Given the description of an element on the screen output the (x, y) to click on. 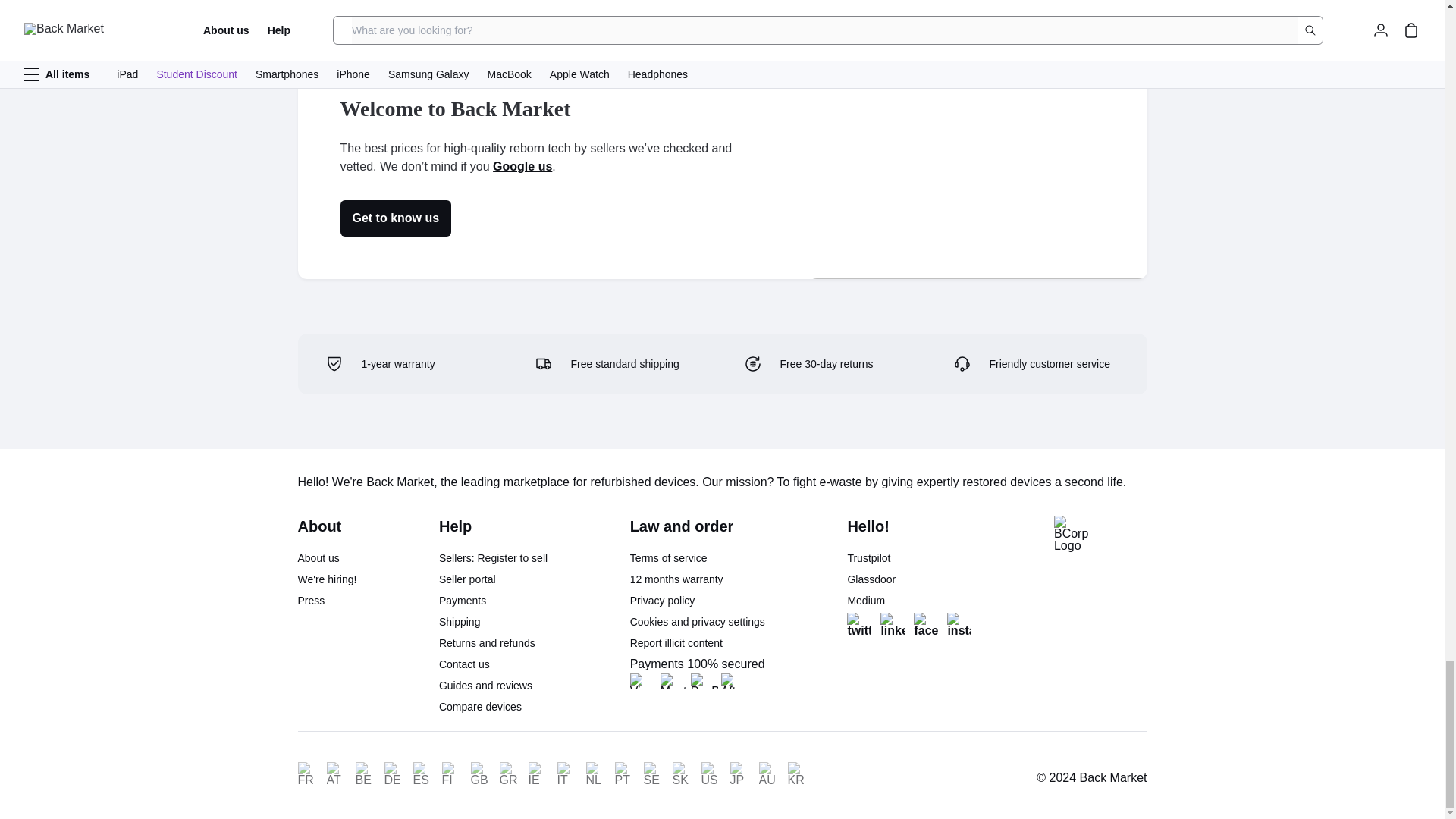
We're hiring! (326, 579)
About us (318, 558)
Seller portal (467, 579)
Sellers: Register to sell (493, 558)
Google us (522, 167)
Back Market - twitter (858, 624)
Get to know us (395, 217)
Back Market - linkedin (892, 624)
Back Market - instagram (959, 624)
Back Market - facebook (925, 624)
Press (310, 600)
